Given the description of an element on the screen output the (x, y) to click on. 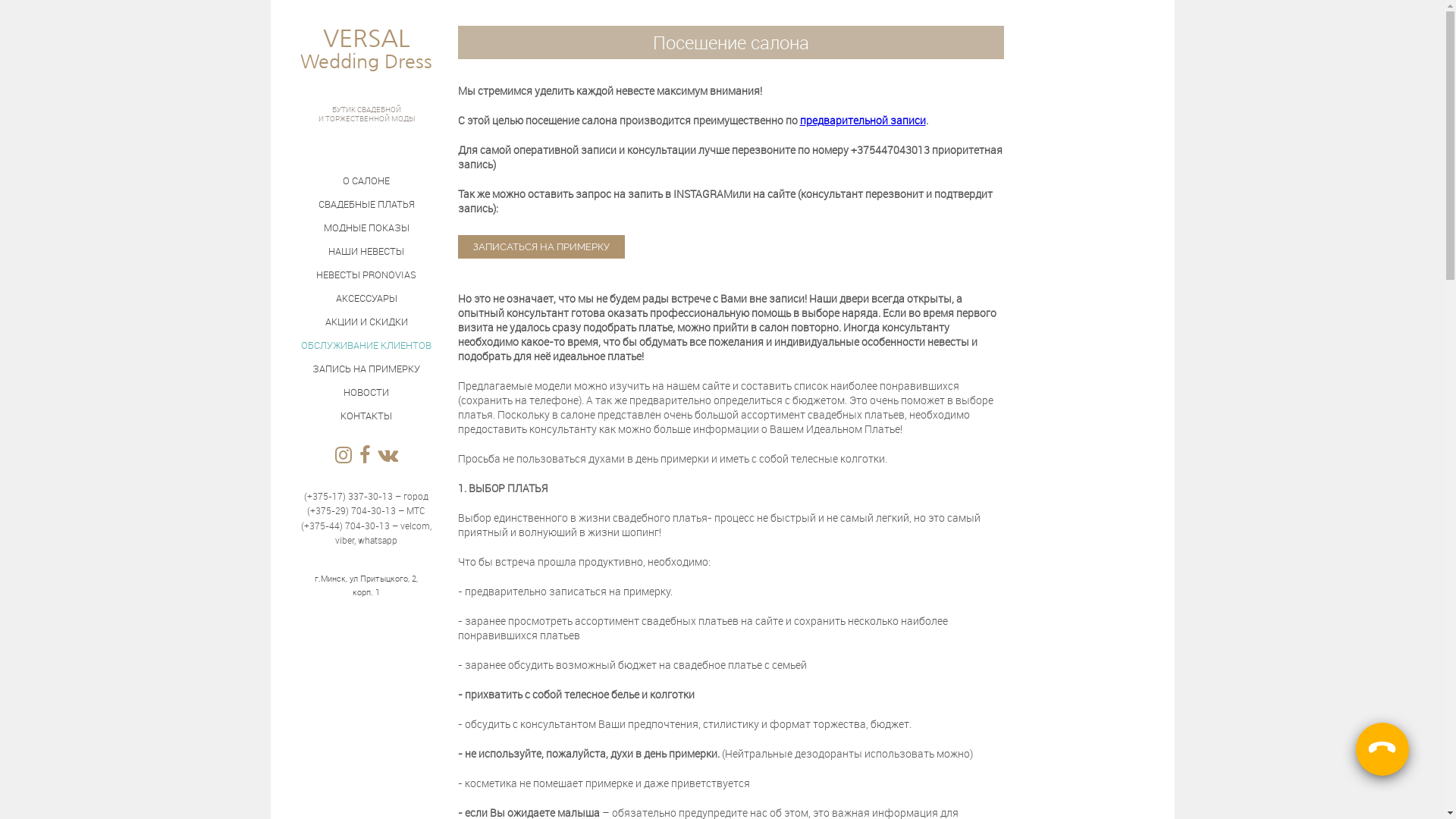
VERSAL
Wedding Dress Element type: text (365, 63)
